Given the description of an element on the screen output the (x, y) to click on. 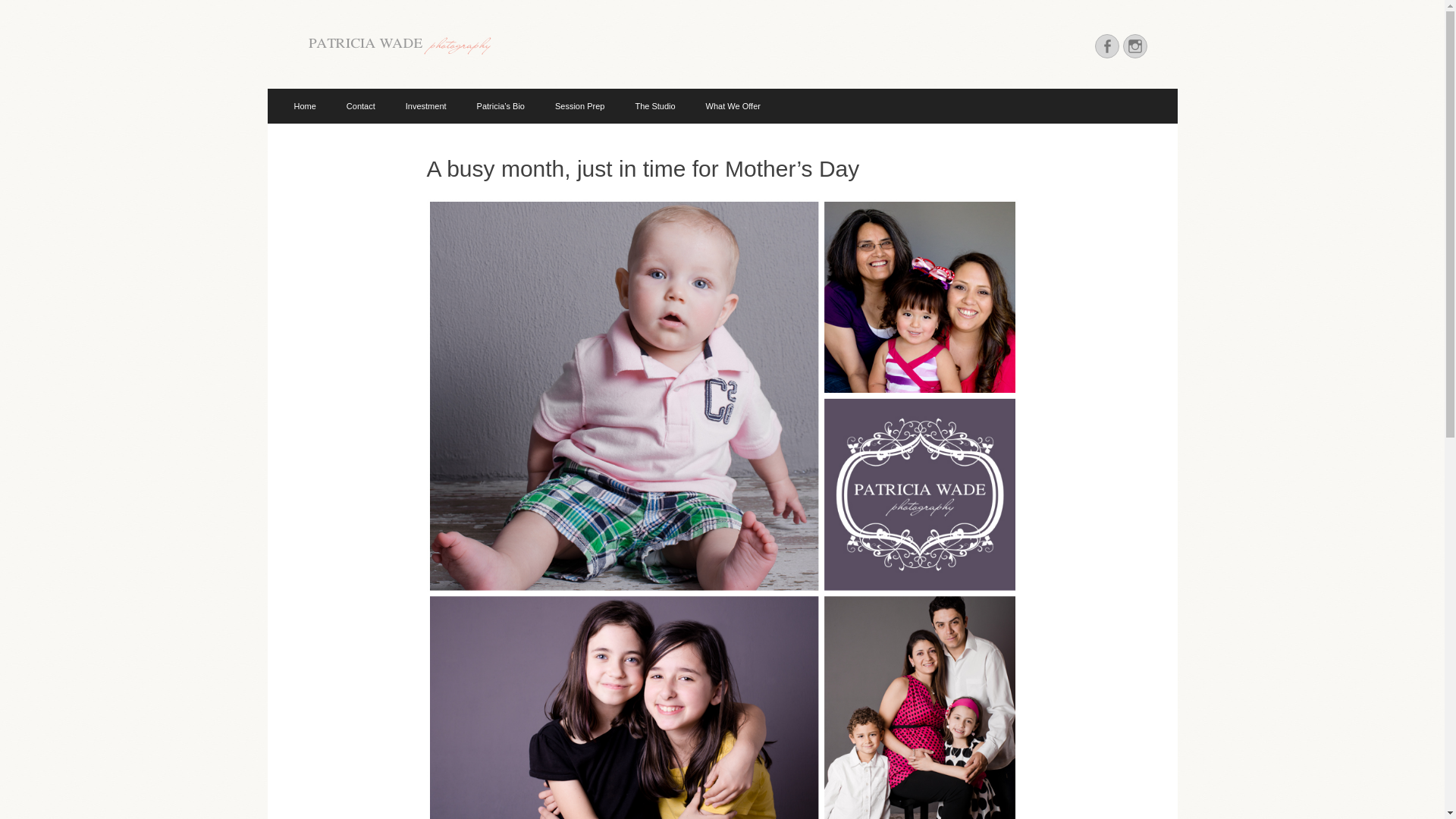
Investment (425, 105)
Patricia Wade Photography (484, 48)
The Studio (655, 105)
Instagram (1134, 46)
Contact (360, 105)
Facebook (1106, 46)
Home (305, 105)
What We Offer (733, 105)
Instagram (1134, 46)
Session Prep (580, 105)
Facebook (1106, 46)
